Given the description of an element on the screen output the (x, y) to click on. 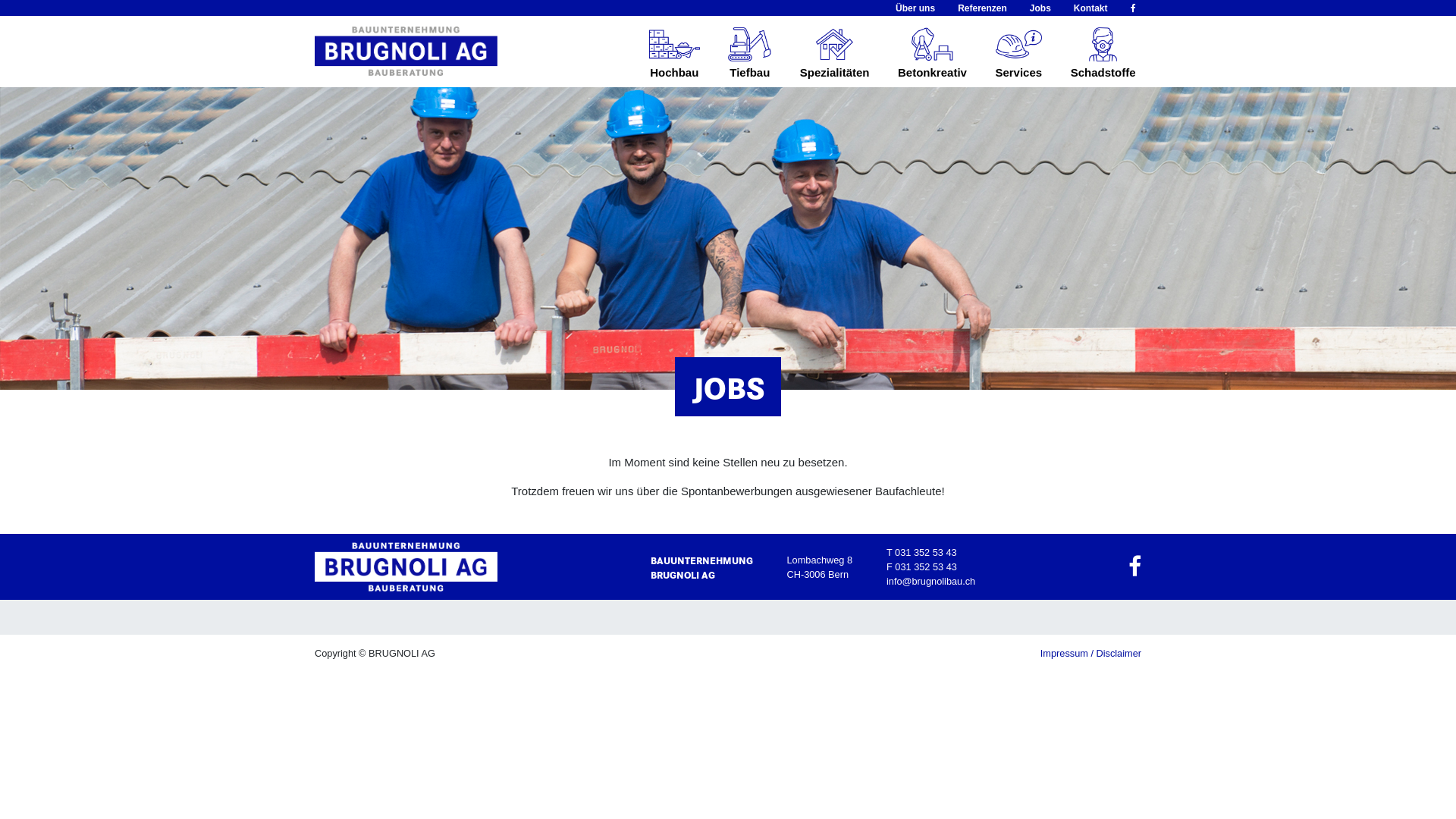
Referenzen Element type: text (982, 7)
Tiefbau Element type: text (749, 51)
Services Element type: text (1018, 51)
Hochbau Element type: text (674, 51)
Betonkreativ Element type: text (932, 51)
Impressum / Disclaimer Element type: text (1090, 653)
Kontakt Element type: text (1090, 7)
fa-facebook Element type: hover (1130, 7)
fa-facebook Element type: hover (1134, 566)
Schadstoffe Element type: text (1102, 51)
info@brugnolibau.ch Element type: text (930, 580)
Jobs Element type: text (1040, 7)
